Given the description of an element on the screen output the (x, y) to click on. 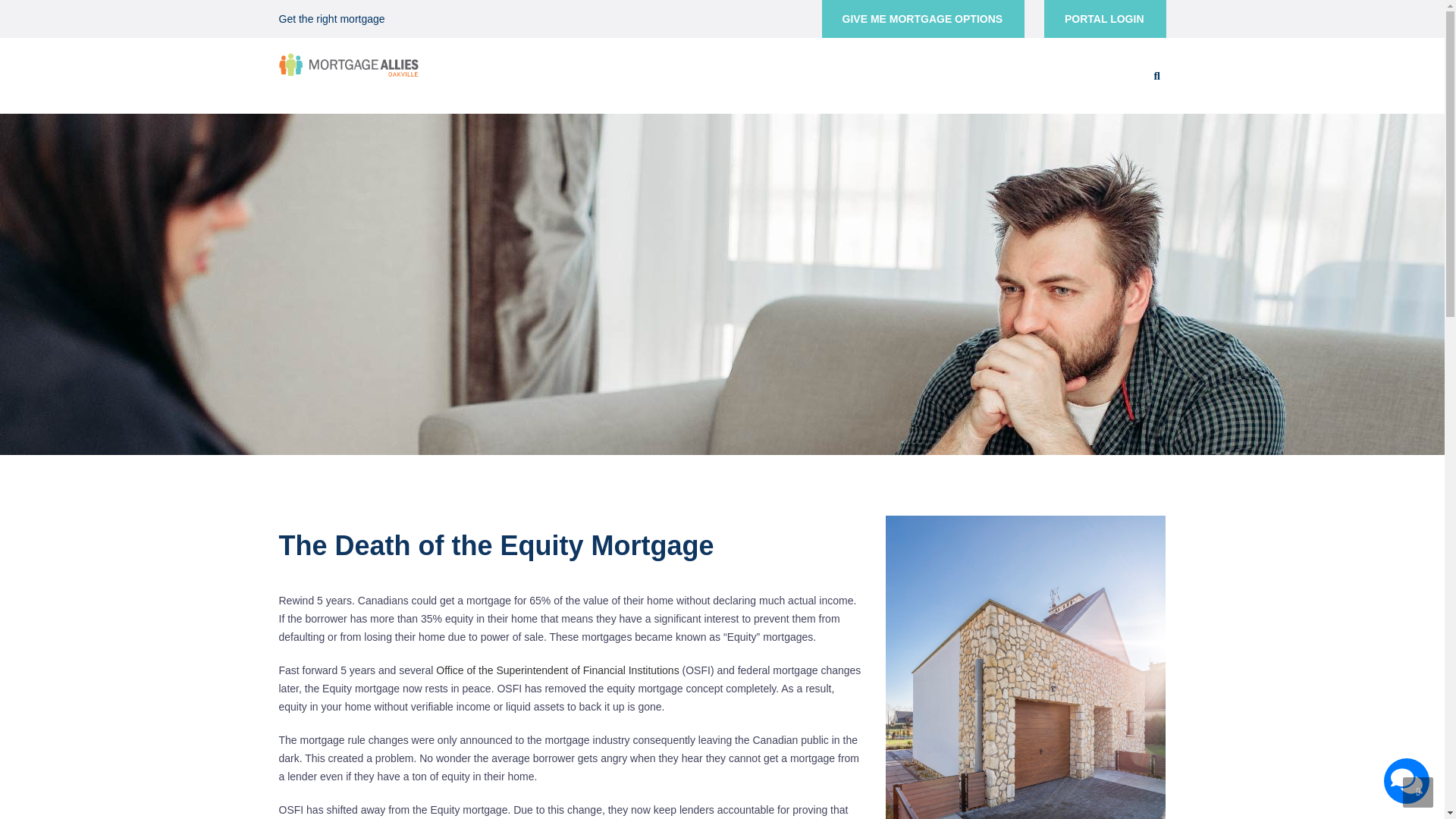
Resources (746, 75)
Contact Us (1104, 75)
Home (631, 75)
Office of the Superintendent of Financial Institutions (556, 670)
Testimonials (937, 75)
Careers (1045, 75)
Search (1144, 140)
Education (684, 75)
PORTAL LOGIN (1104, 18)
Oakville's Mortgage Allies (349, 63)
GIVE ME MORTGAGE OPTIONS (923, 18)
Services (874, 75)
Promotions (812, 75)
